Given the description of an element on the screen output the (x, y) to click on. 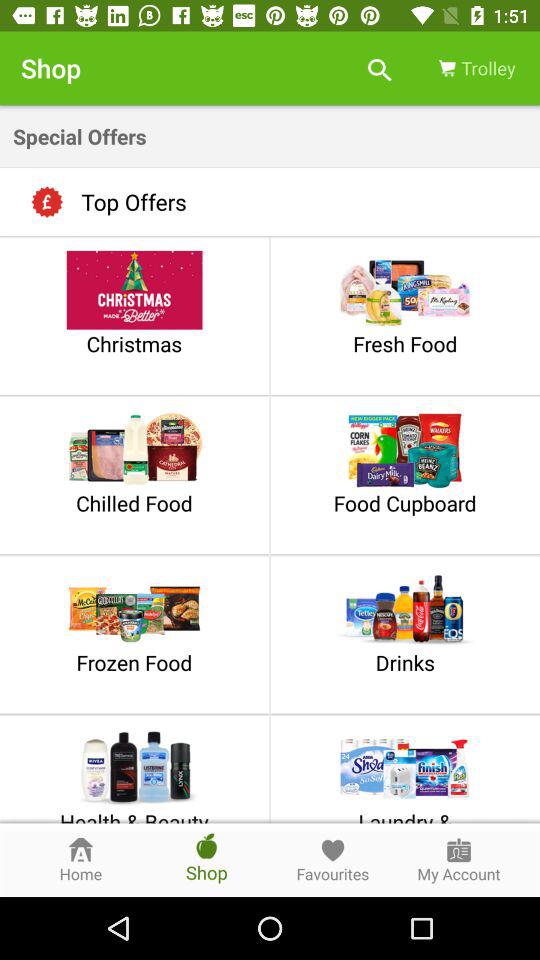
turn off the item next to the shop (379, 67)
